Given the description of an element on the screen output the (x, y) to click on. 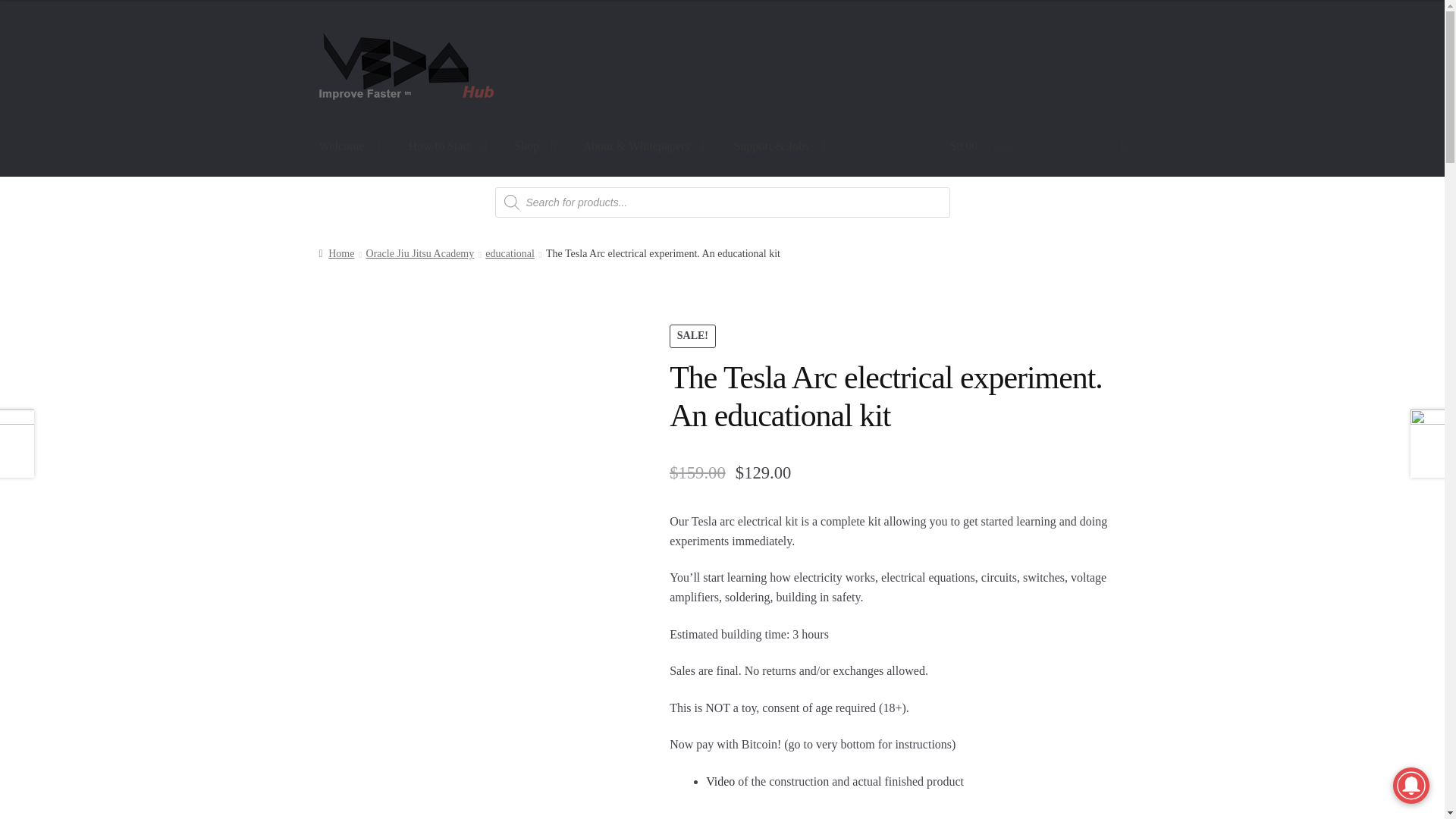
How to Start (447, 146)
Welcome (350, 146)
View your shopping cart (1037, 146)
Shop (534, 146)
